Given the description of an element on the screen output the (x, y) to click on. 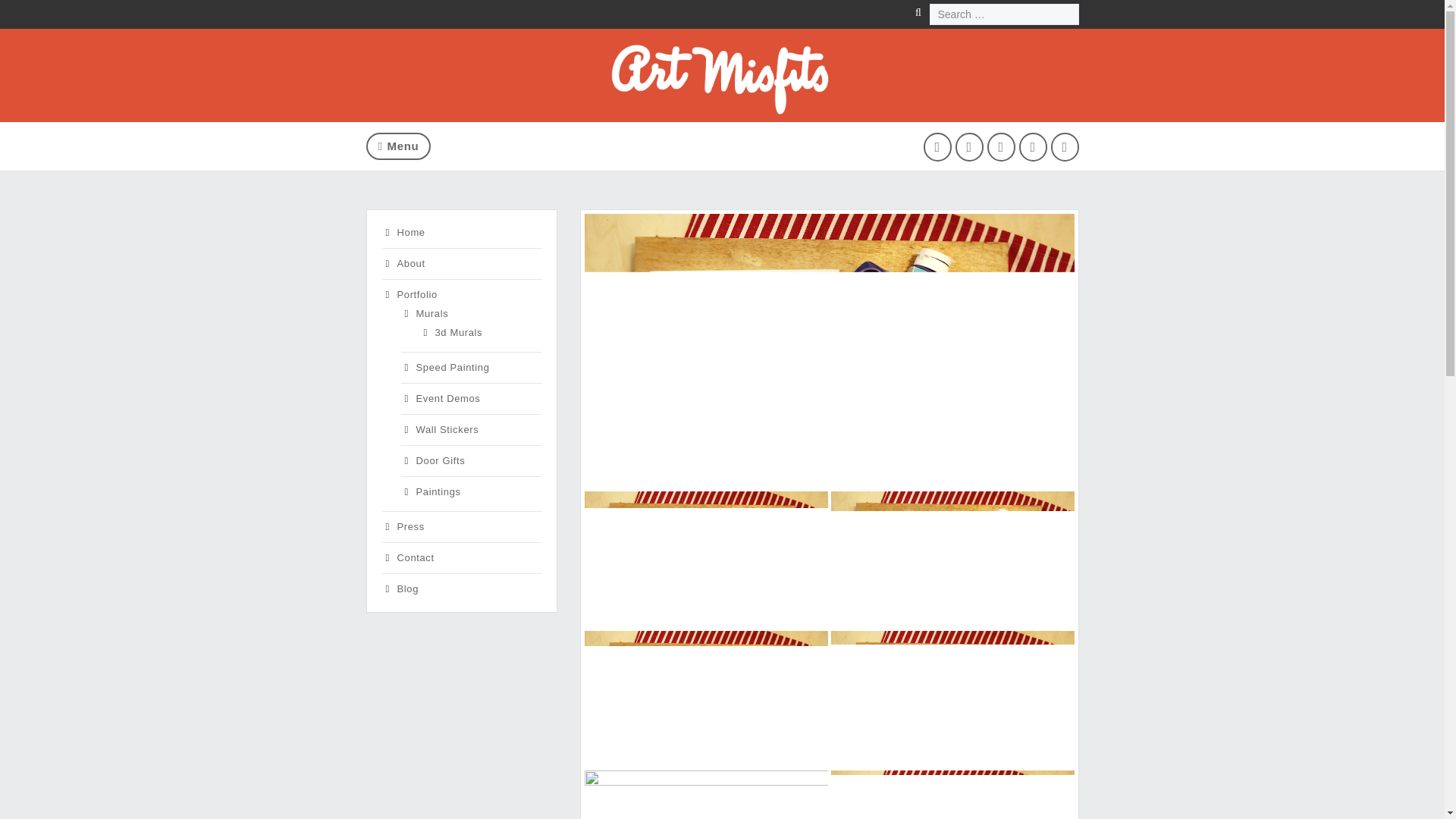
Art Misfits (722, 111)
Menu (397, 145)
Search (25, 10)
